Given the description of an element on the screen output the (x, y) to click on. 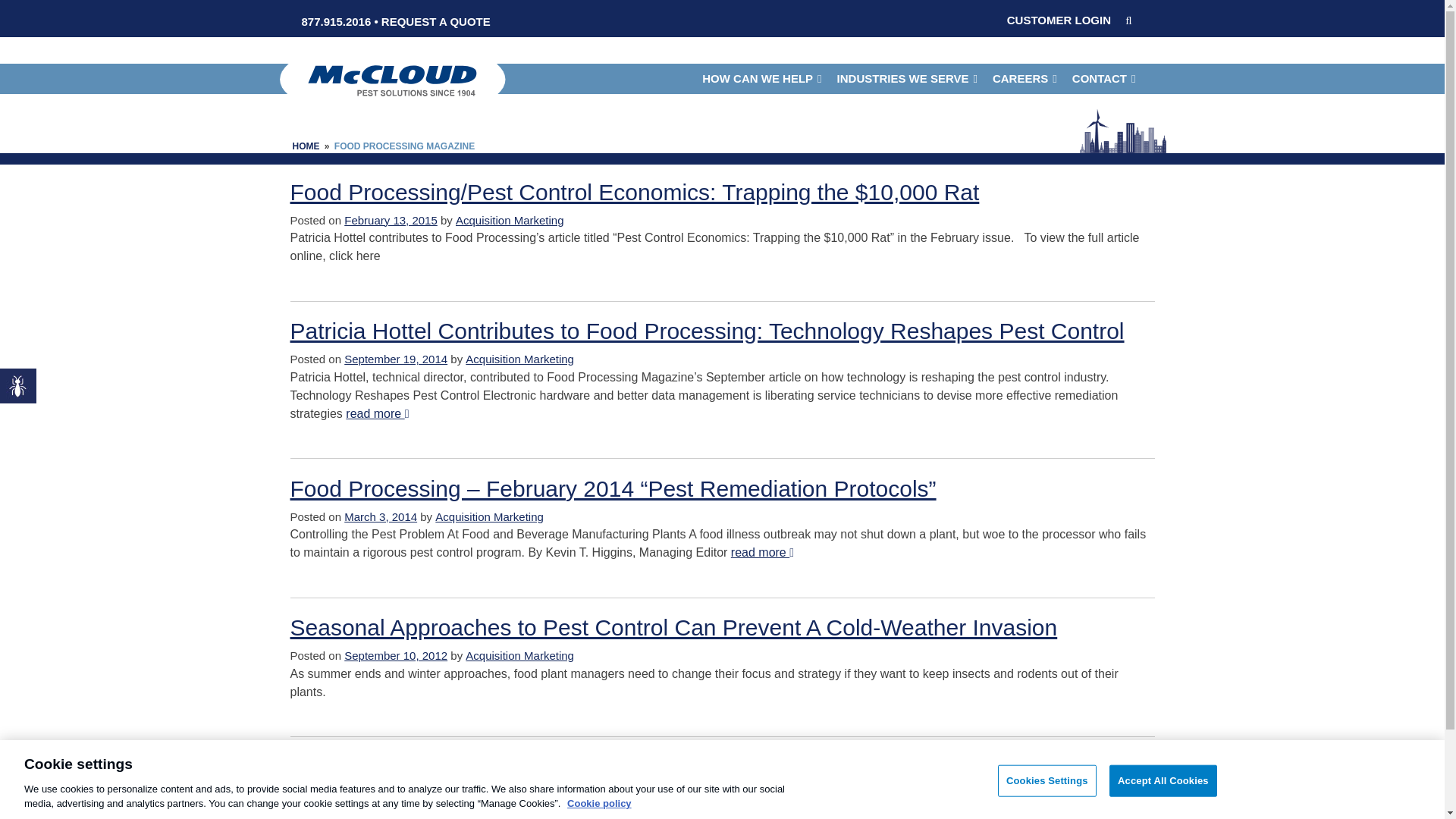
877.915.2016 (336, 21)
HOW CAN WE HELP (761, 78)
CUSTOMER LOGIN (1058, 19)
REQUEST A QUOTE (435, 21)
INDUSTRIES WE SERVE (907, 78)
